Given the description of an element on the screen output the (x, y) to click on. 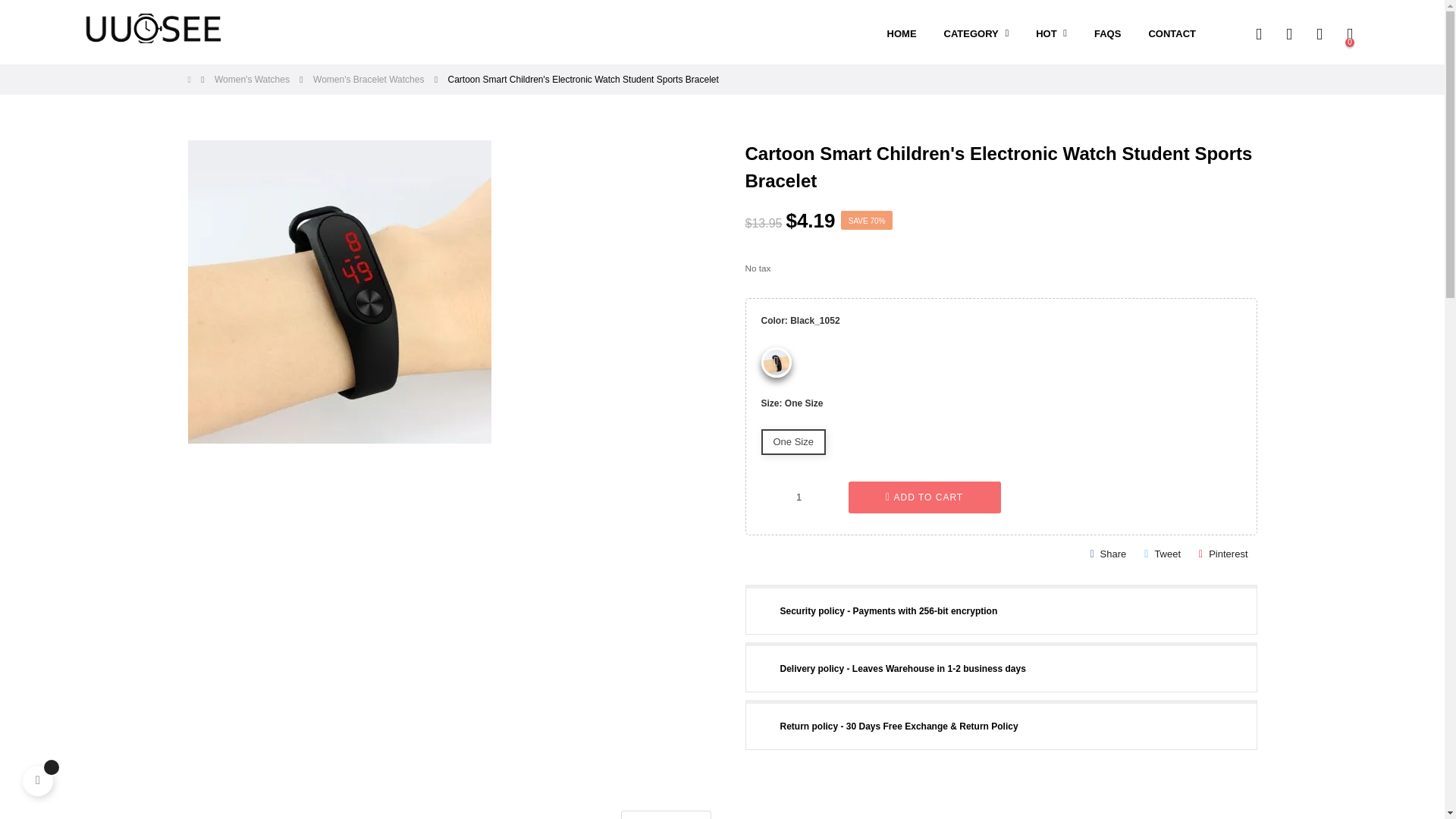
HOME (901, 34)
1 (799, 496)
CATEGORY (976, 34)
HOT (1051, 34)
